Given the description of an element on the screen output the (x, y) to click on. 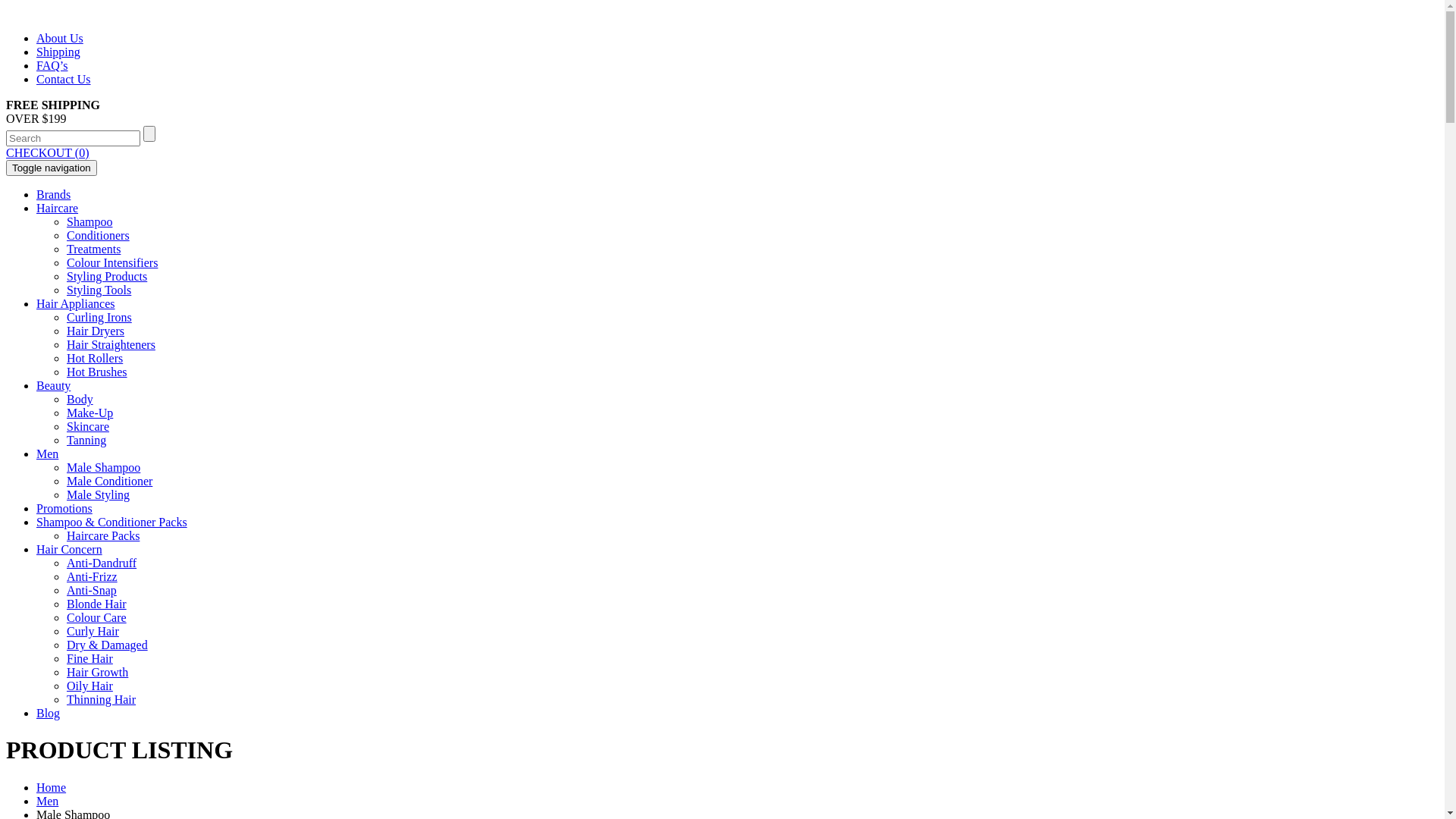
Male Conditioner Element type: text (109, 480)
Hair Growth Element type: text (97, 671)
Toggle navigation Element type: text (51, 167)
Dry & Damaged Element type: text (106, 644)
Treatments Element type: text (93, 248)
Thinning Hair Element type: text (100, 699)
Anti-Dandruff Element type: text (101, 562)
Curling Irons Element type: text (98, 316)
Skincare Element type: text (87, 426)
Home Element type: text (50, 787)
Body Element type: text (79, 398)
CHECKOUT (0) Element type: text (47, 152)
Blonde Hair Element type: text (96, 603)
Blog Element type: text (47, 712)
Beauty Element type: text (53, 385)
Hair Concern Element type: text (69, 548)
Brands Element type: text (53, 194)
Male Styling Element type: text (97, 494)
Tanning Element type: text (86, 439)
Anti-Snap Element type: text (91, 589)
Hair Straighteners Element type: text (110, 344)
Men Element type: text (47, 453)
Shipping Element type: text (58, 51)
Styling Products Element type: text (106, 275)
Fine Hair Element type: text (89, 658)
Haircare Packs Element type: text (102, 535)
Men Element type: text (47, 800)
Hot Rollers Element type: text (94, 357)
About Us Element type: text (59, 37)
Anti-Frizz Element type: text (91, 576)
Styling Tools Element type: text (98, 289)
Promotions Element type: text (64, 508)
Haircare Element type: text (57, 207)
Male Shampoo Element type: text (103, 467)
Hair Appliances Element type: text (75, 303)
Shampoo & Conditioner Packs Element type: text (111, 521)
Hair Dryers Element type: text (95, 330)
Oily Hair Element type: text (89, 685)
Make-Up Element type: text (89, 412)
Colour Intensifiers Element type: text (111, 262)
Conditioners Element type: text (97, 235)
Shampoo Element type: text (89, 221)
Curly Hair Element type: text (92, 630)
Hot Brushes Element type: text (96, 371)
Colour Care Element type: text (96, 617)
Contact Us Element type: text (63, 78)
